Given the description of an element on the screen output the (x, y) to click on. 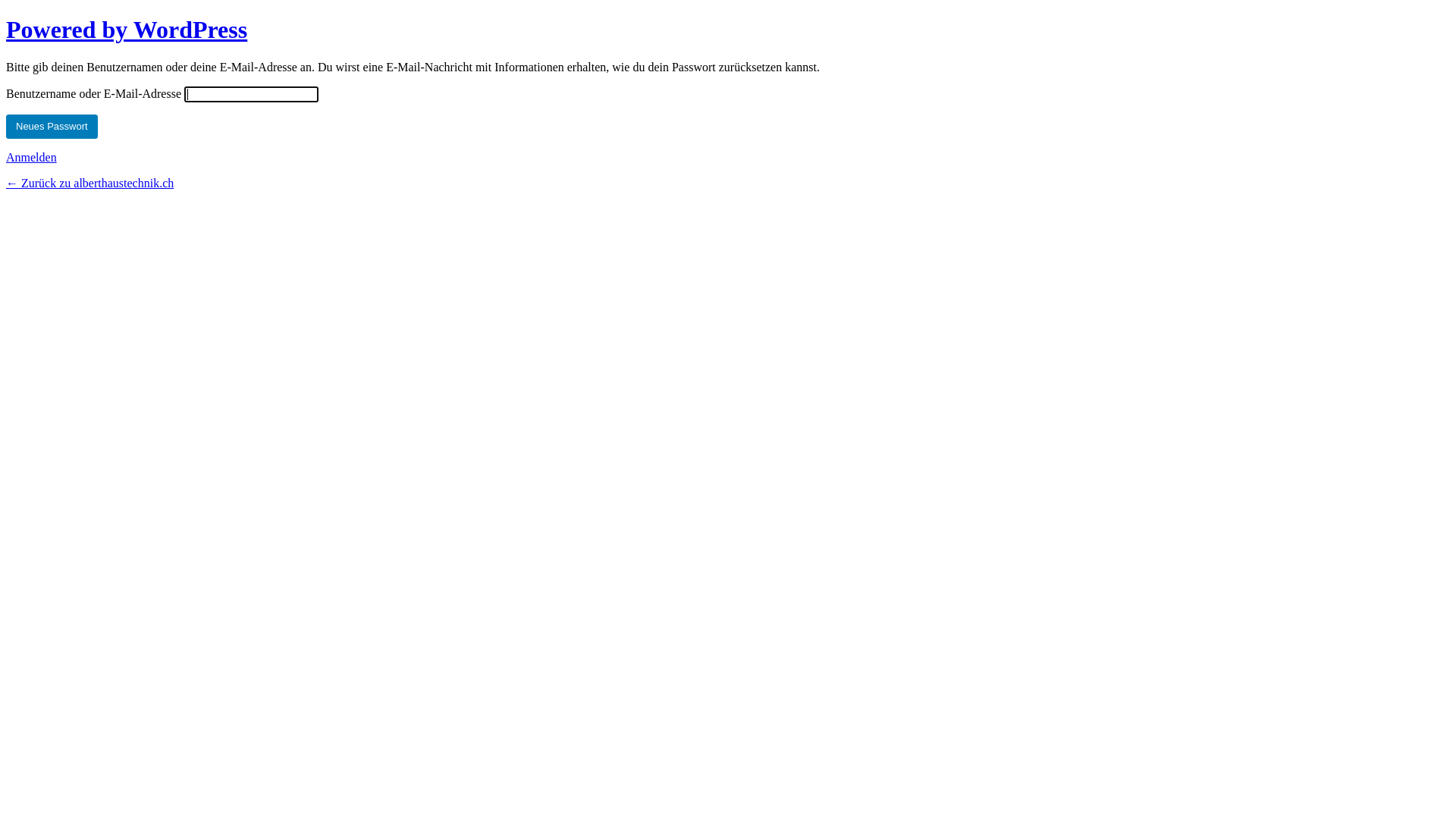
Powered by WordPress Element type: text (126, 29)
Anmelden Element type: text (31, 156)
Neues Passwort Element type: text (51, 126)
